Given the description of an element on the screen output the (x, y) to click on. 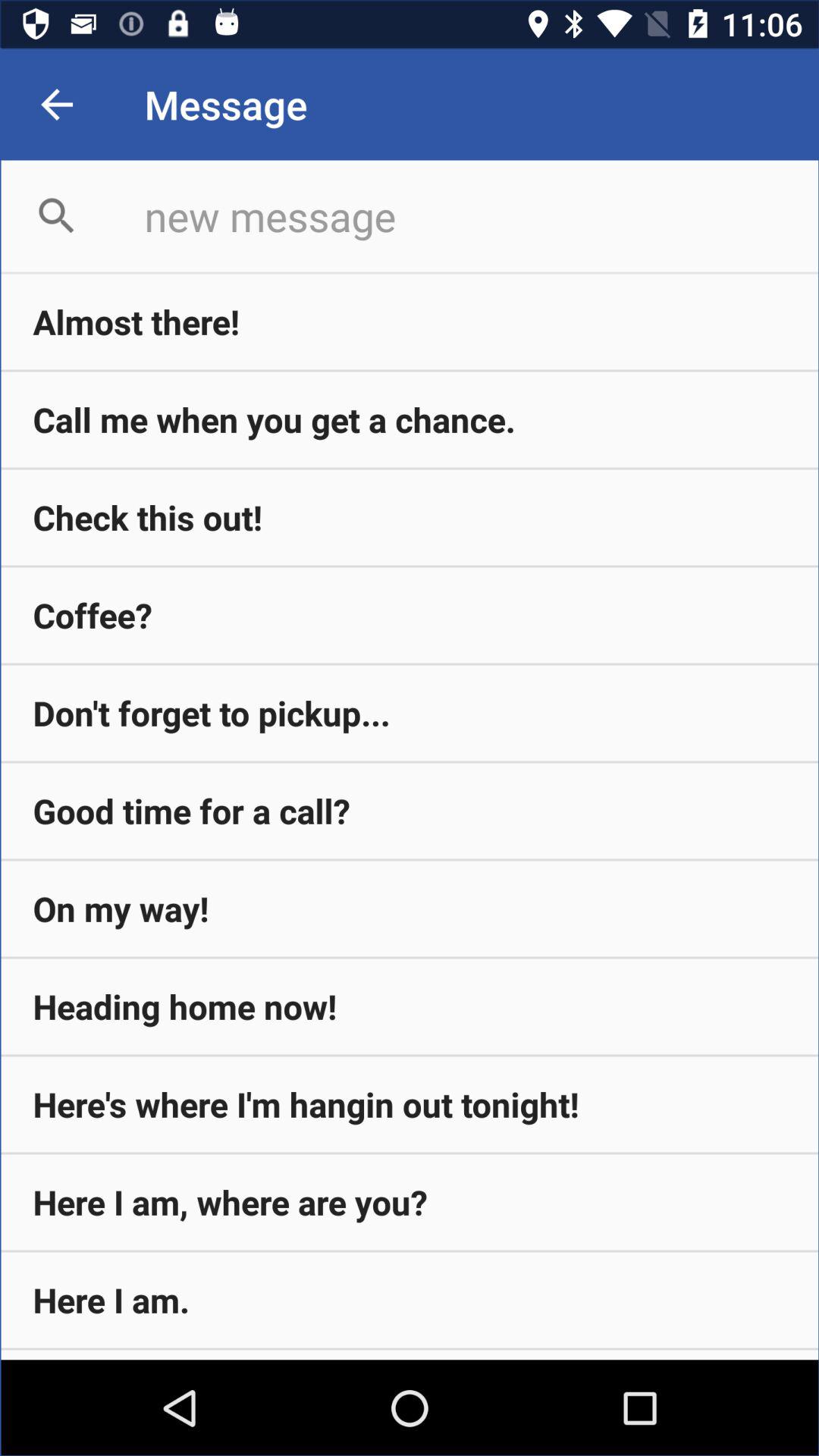
press item above good time for (409, 712)
